Given the description of an element on the screen output the (x, y) to click on. 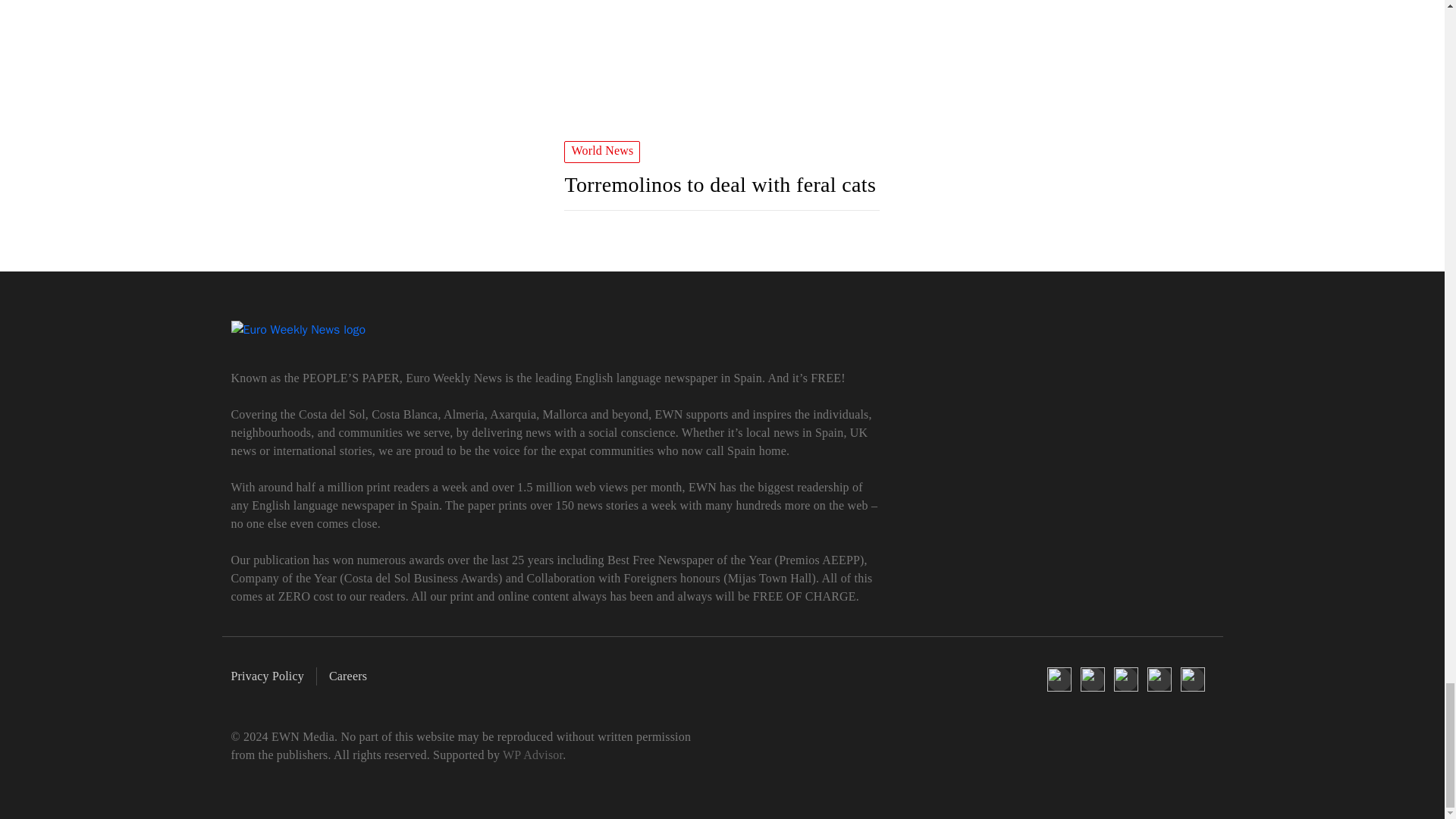
WP Advisor - WordPress done right! (532, 754)
